Given the description of an element on the screen output the (x, y) to click on. 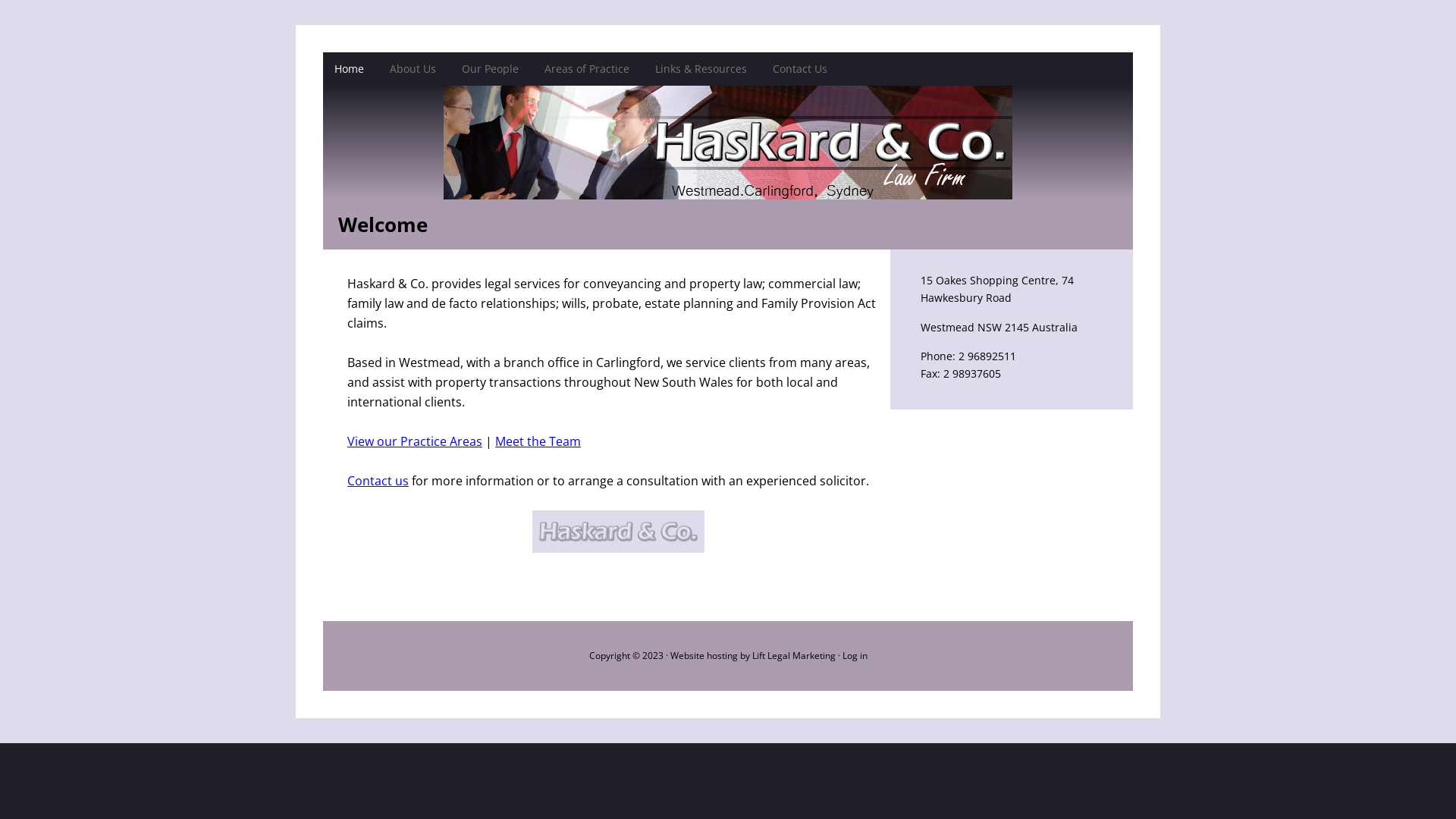
Meet the Team Element type: text (537, 441)
Log in Element type: text (853, 655)
View our Practice Areas Element type: text (414, 441)
Skip to main content Element type: text (0, 0)
Contact Us Element type: text (799, 68)
Lift Legal Marketing Element type: text (793, 655)
Links & Resources Element type: text (700, 68)
Home Element type: text (349, 68)
Contact us Element type: text (377, 480)
About Us Element type: text (412, 68)
Our People Element type: text (490, 68)
Areas of Practice Element type: text (586, 68)
